Given the description of an element on the screen output the (x, y) to click on. 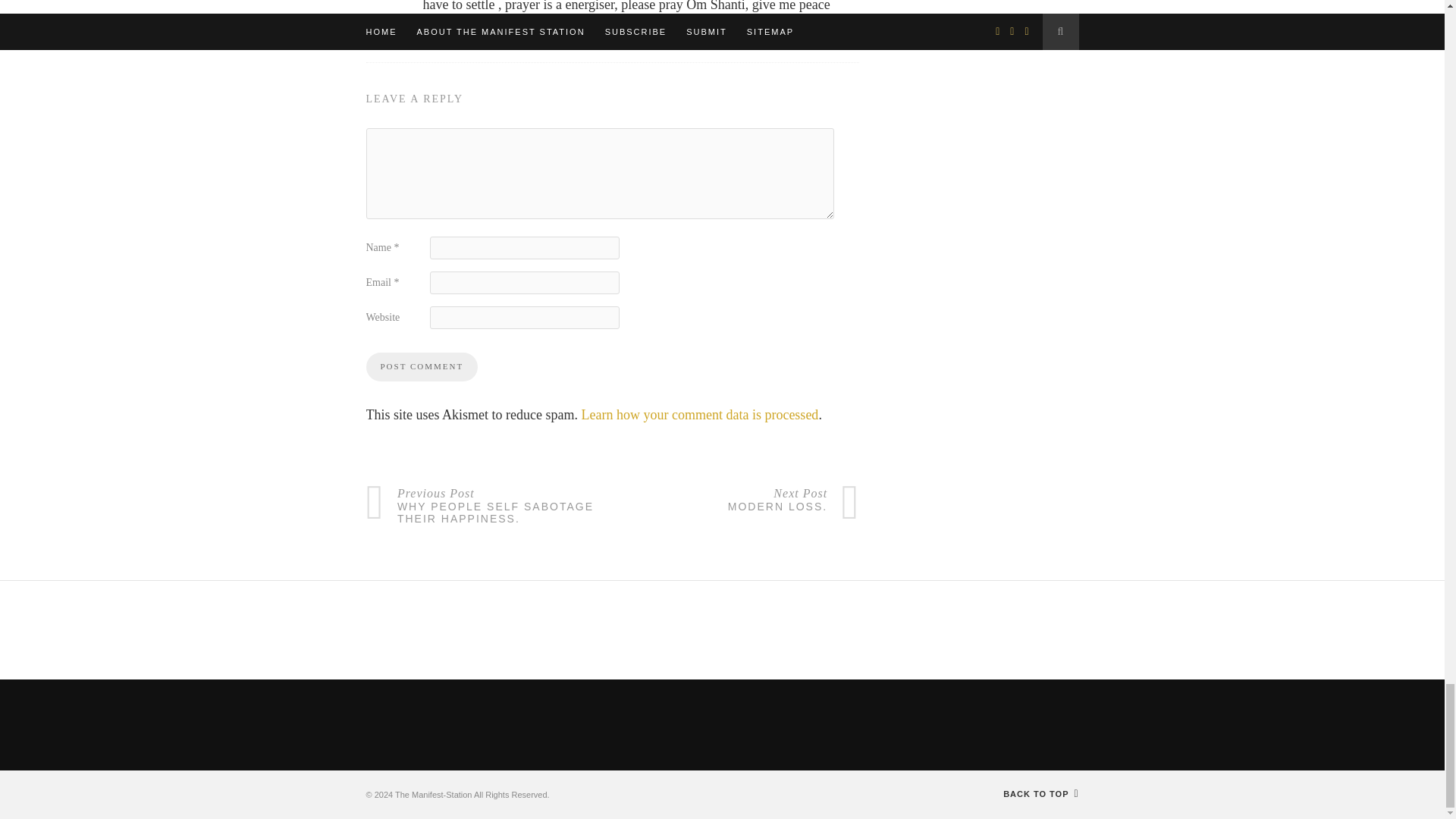
Post Comment (421, 366)
